Given the description of an element on the screen output the (x, y) to click on. 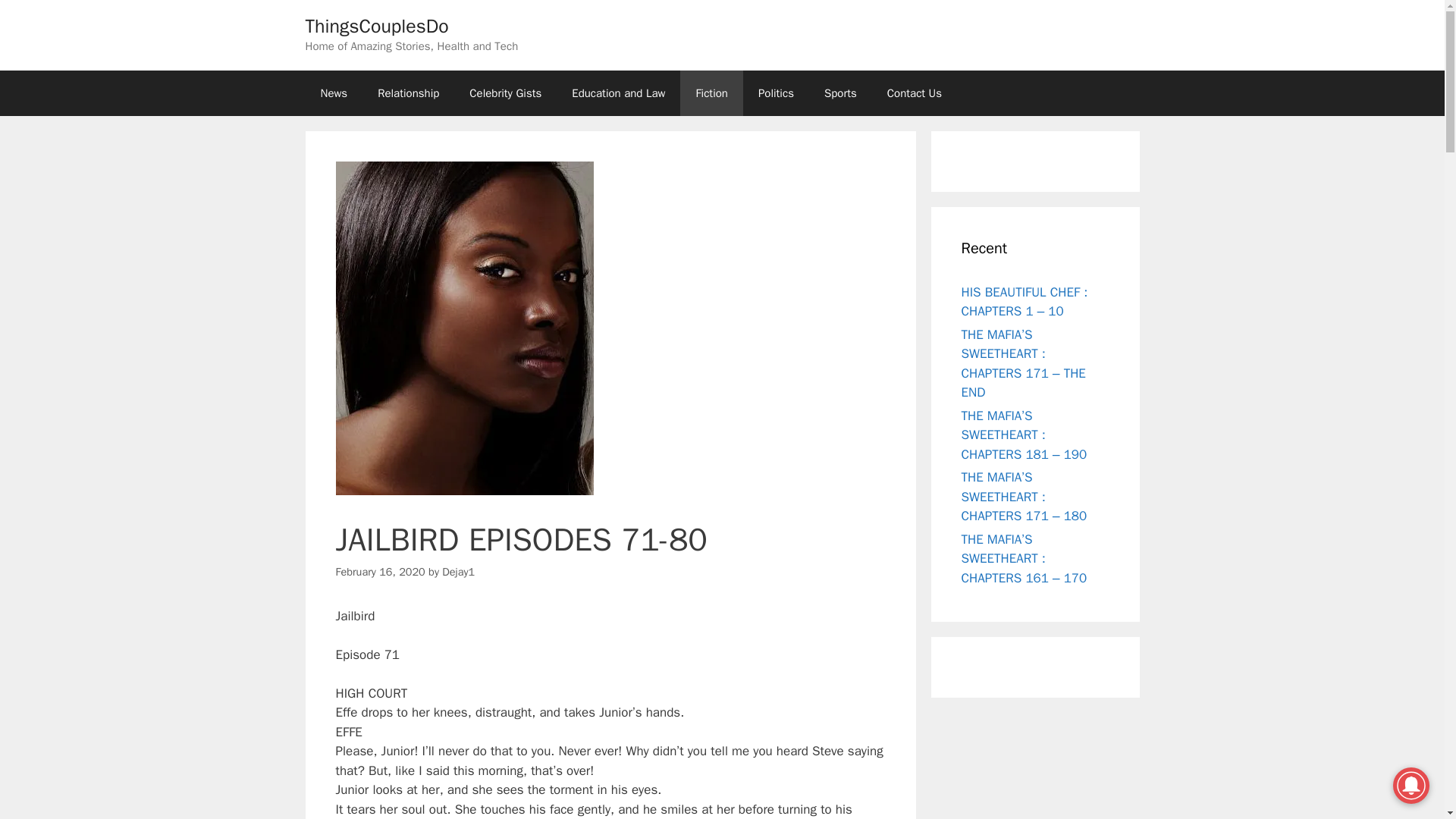
Fiction (710, 92)
Celebrity Gists (505, 92)
ThingsCouplesDo (376, 25)
News (333, 92)
Contact Us (914, 92)
Politics (775, 92)
View all posts by Dejay1 (458, 571)
Education and Law (617, 92)
Relationship (408, 92)
Sports (840, 92)
Dejay1 (458, 571)
